Given the description of an element on the screen output the (x, y) to click on. 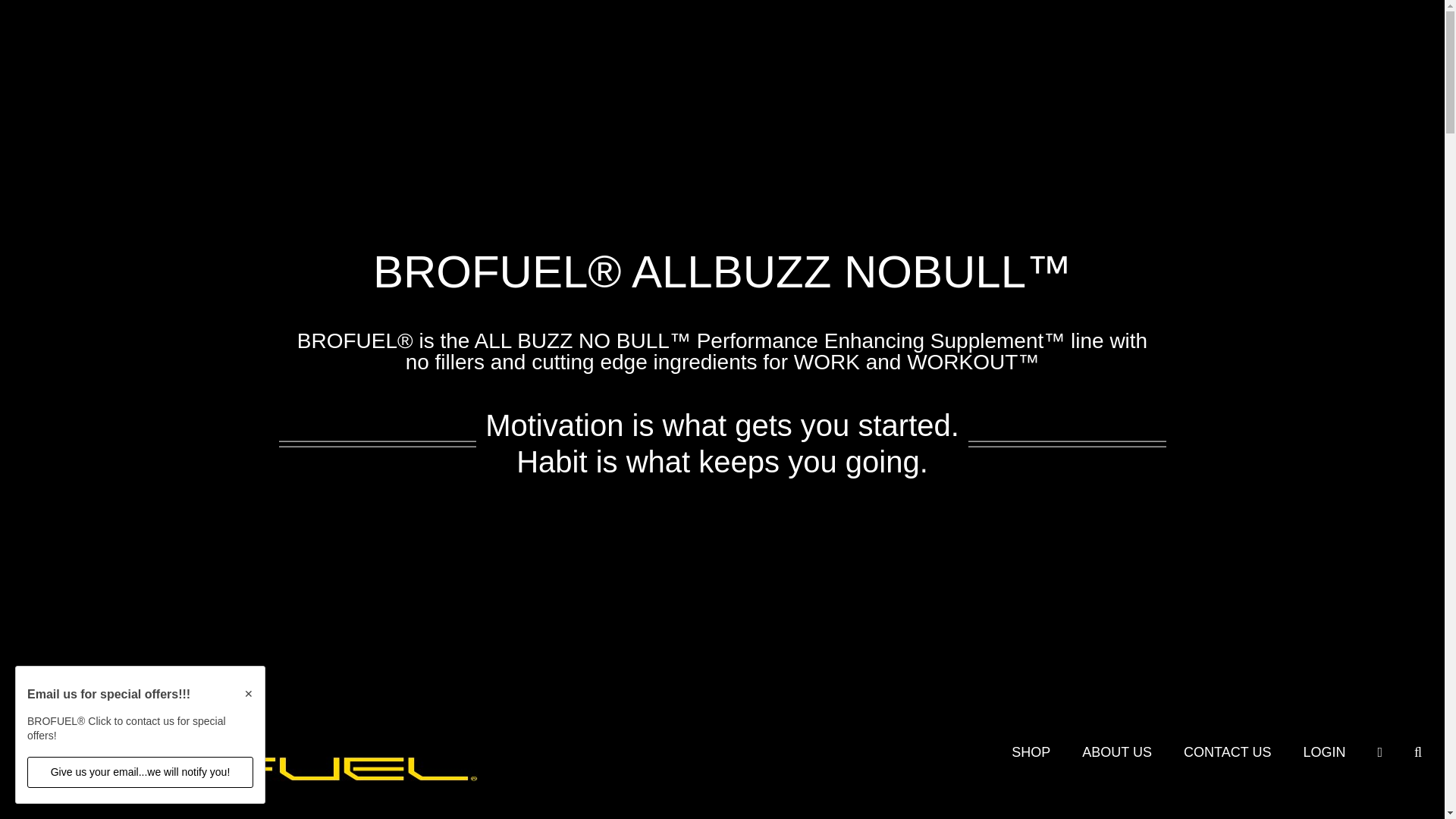
CONTACT US (1227, 751)
SHOP (1030, 751)
LOGIN (1324, 751)
Search (1417, 751)
ABOUT US (1116, 751)
